Given the description of an element on the screen output the (x, y) to click on. 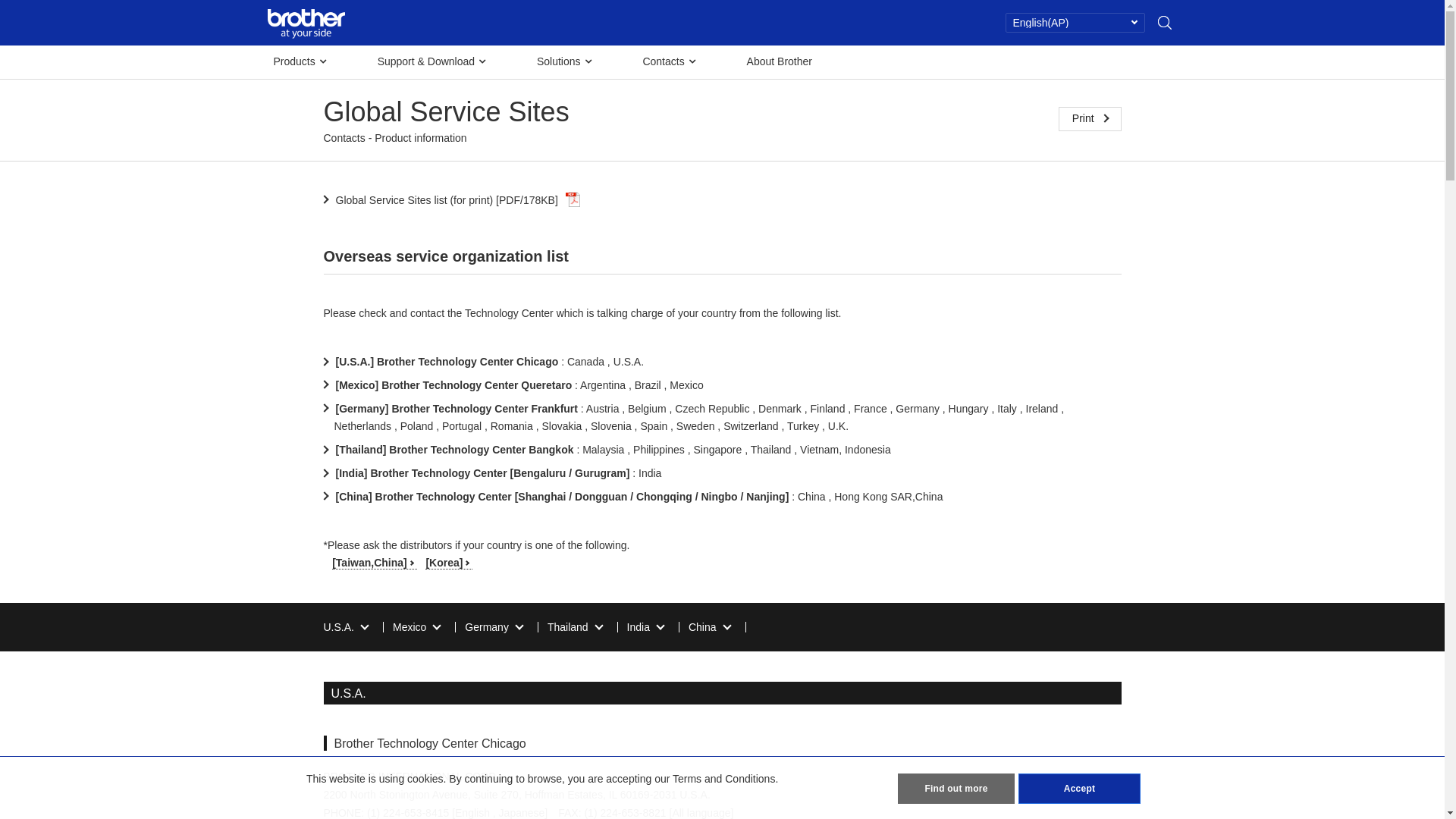
U.S.A. Element type: text (345, 627)
Global Service Sites list (for print) [PDF/178KB] Element type: text (451, 200)
Find out more Element type: text (955, 788)
Print Element type: text (1089, 118)
Accept Element type: text (1079, 788)
About Brother Element type: text (779, 61)
[Taiwan,China] Element type: text (374, 562)
China Element type: text (709, 627)
[U.S.A.] Brother Technology Center Chicago : Canada , U.S.A. Element type: text (483, 361)
India Element type: text (645, 627)
Thailand Element type: text (574, 627)
Mexico Element type: text (415, 627)
[Korea] Element type: text (448, 562)
Germany Element type: text (493, 627)
